Given the description of an element on the screen output the (x, y) to click on. 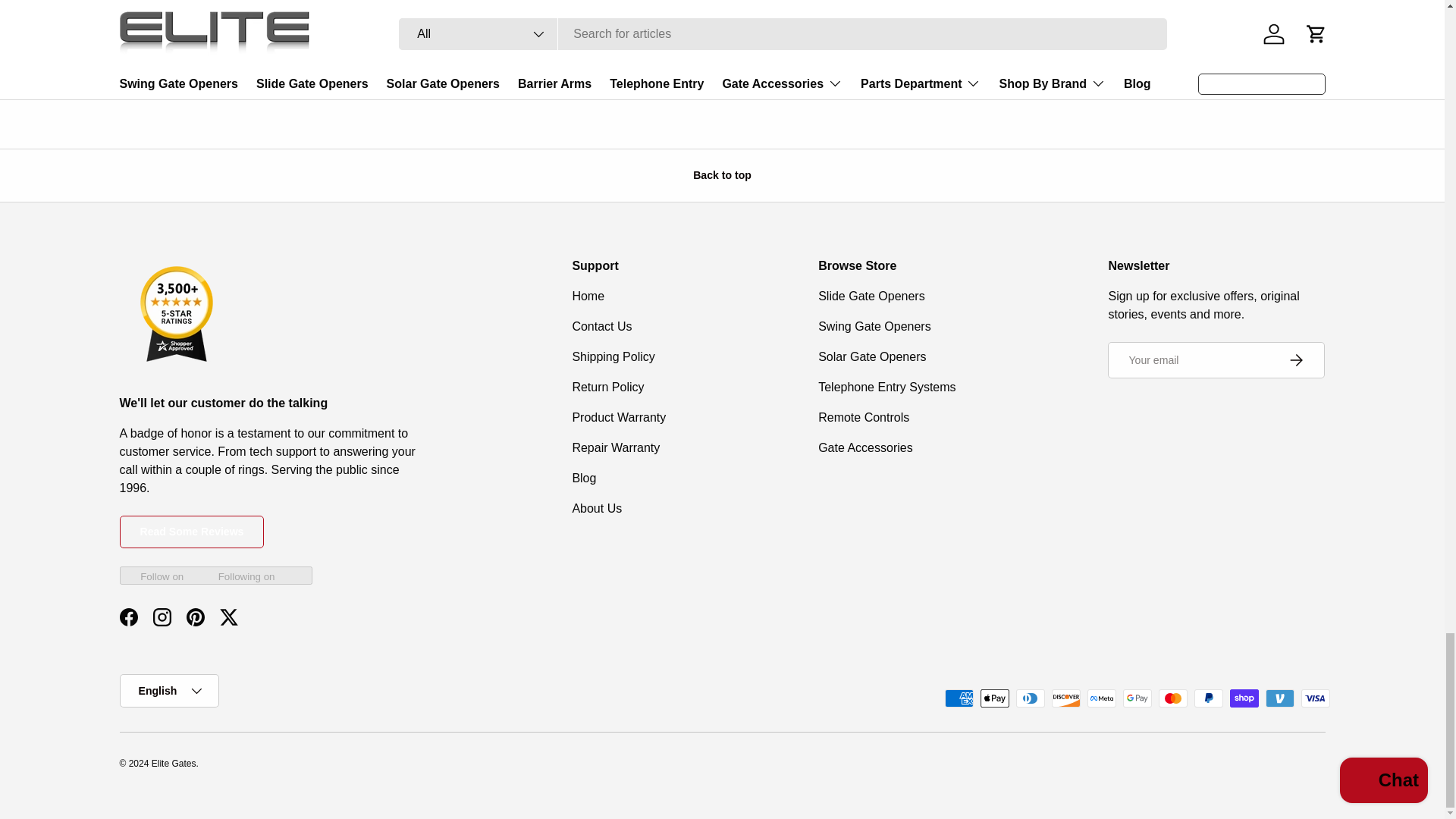
Elite Gates on Facebook (128, 616)
Elite Gates on Pinterest (195, 616)
Elite Gates on Twitter (229, 616)
Elite Gates on Instagram (162, 616)
